Given the description of an element on the screen output the (x, y) to click on. 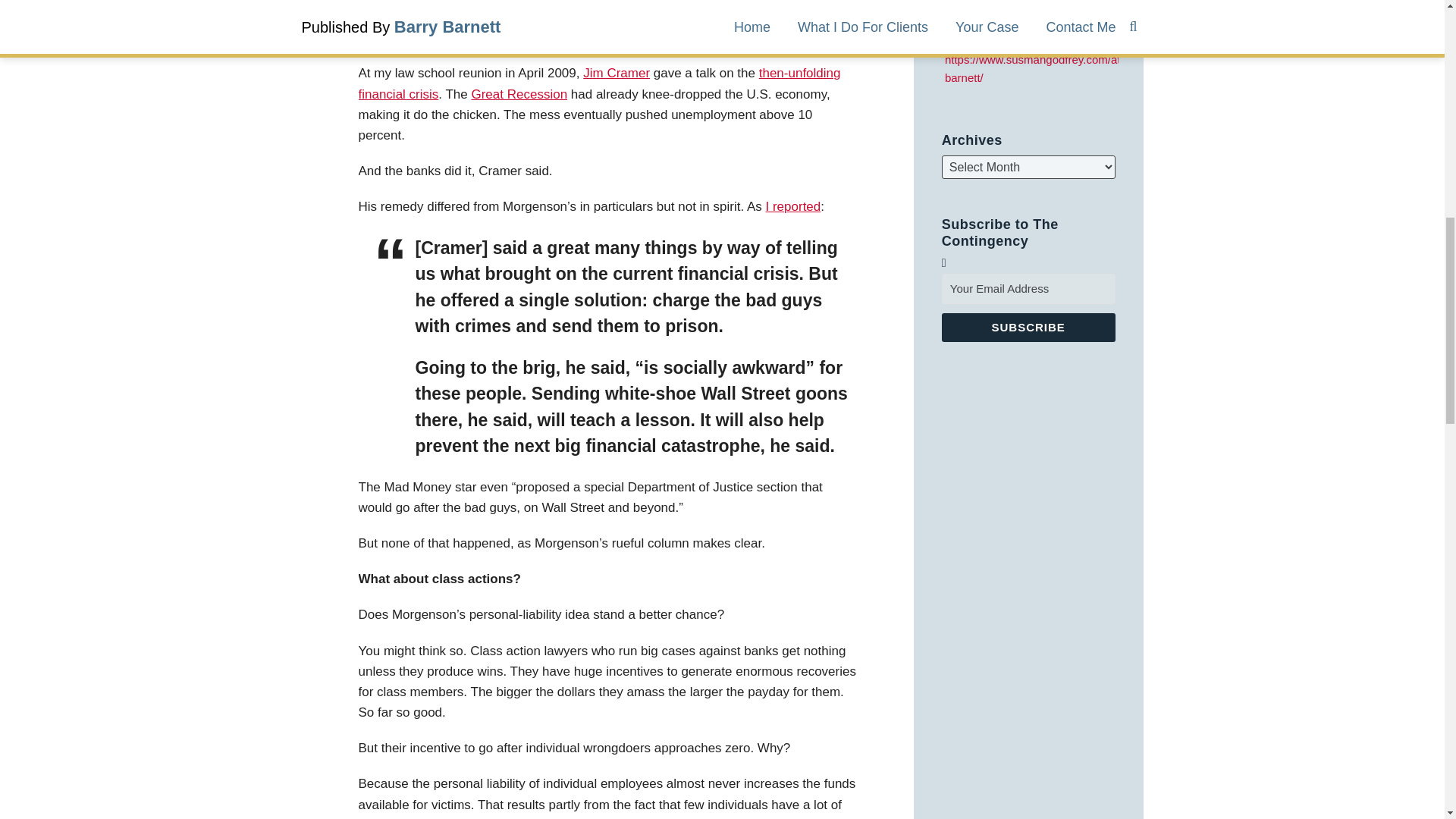
Jim Cramer (616, 73)
Subscribe (1028, 327)
I reported (793, 206)
Great Recession (518, 93)
Subscribe (1028, 327)
then-unfolding financial crisis (599, 83)
